Given the description of an element on the screen output the (x, y) to click on. 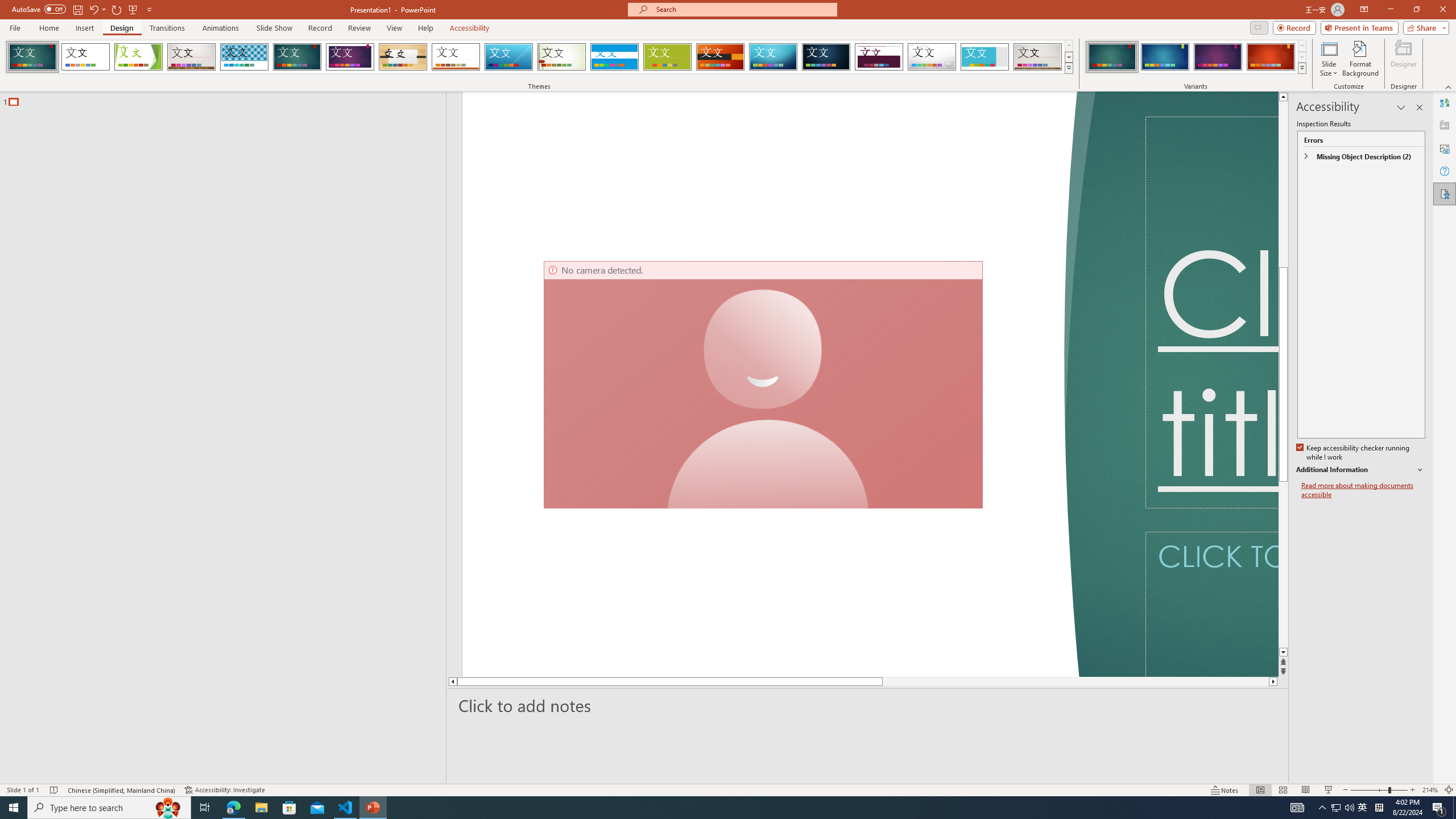
Frame (984, 56)
Decorative Locked (779, 383)
Ion Boardroom (350, 56)
Variants (1301, 67)
AutomationID: ThemeVariantsGallery (1195, 56)
Outline (227, 99)
AutomationID: SlideThemesGallery (539, 56)
Facet (138, 56)
Themes (1068, 67)
Row Down (1301, 56)
